Given the description of an element on the screen output the (x, y) to click on. 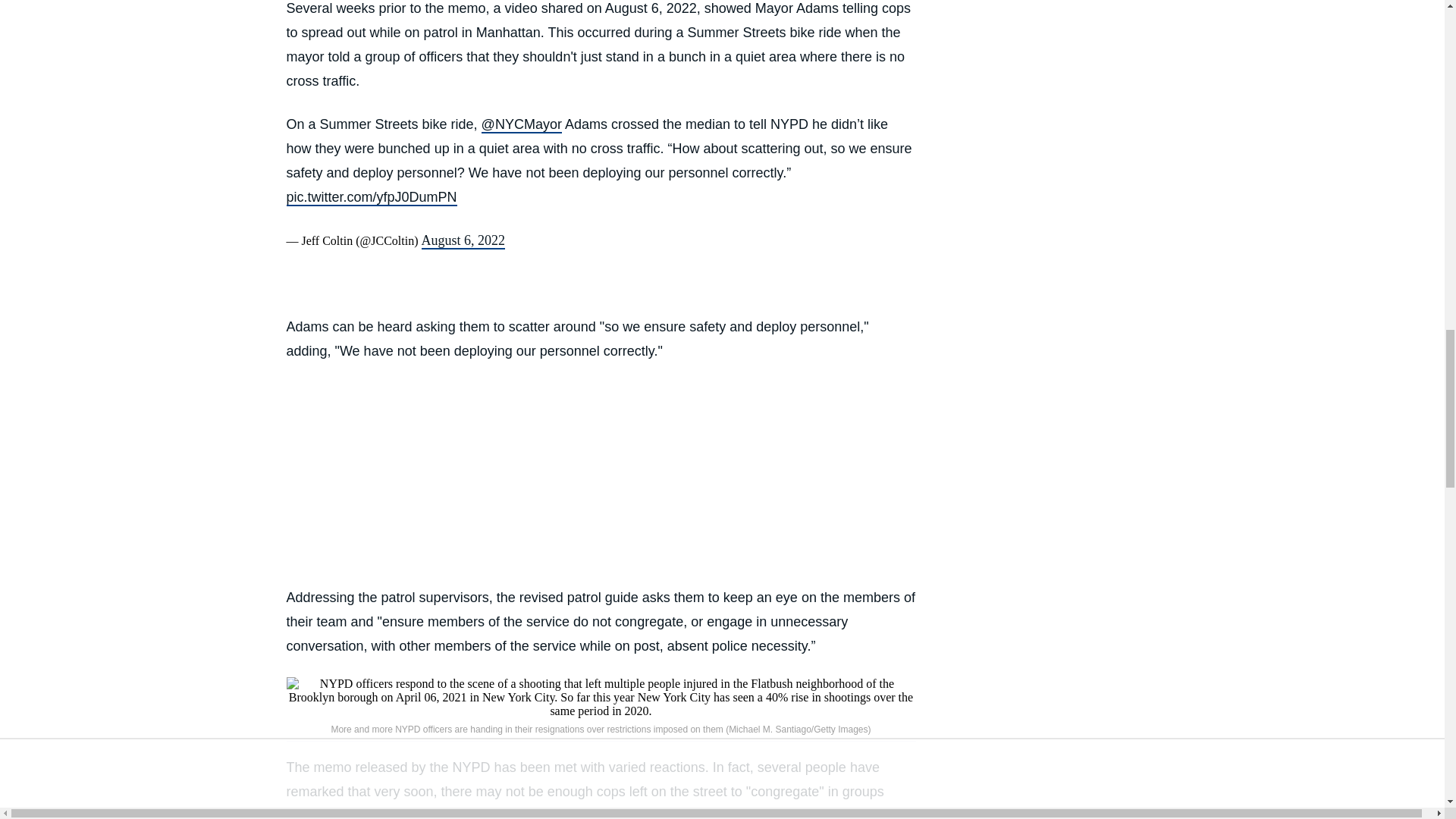
many police personnel quitting their jobs (665, 813)
August 6, 2022 (463, 240)
